Given the description of an element on the screen output the (x, y) to click on. 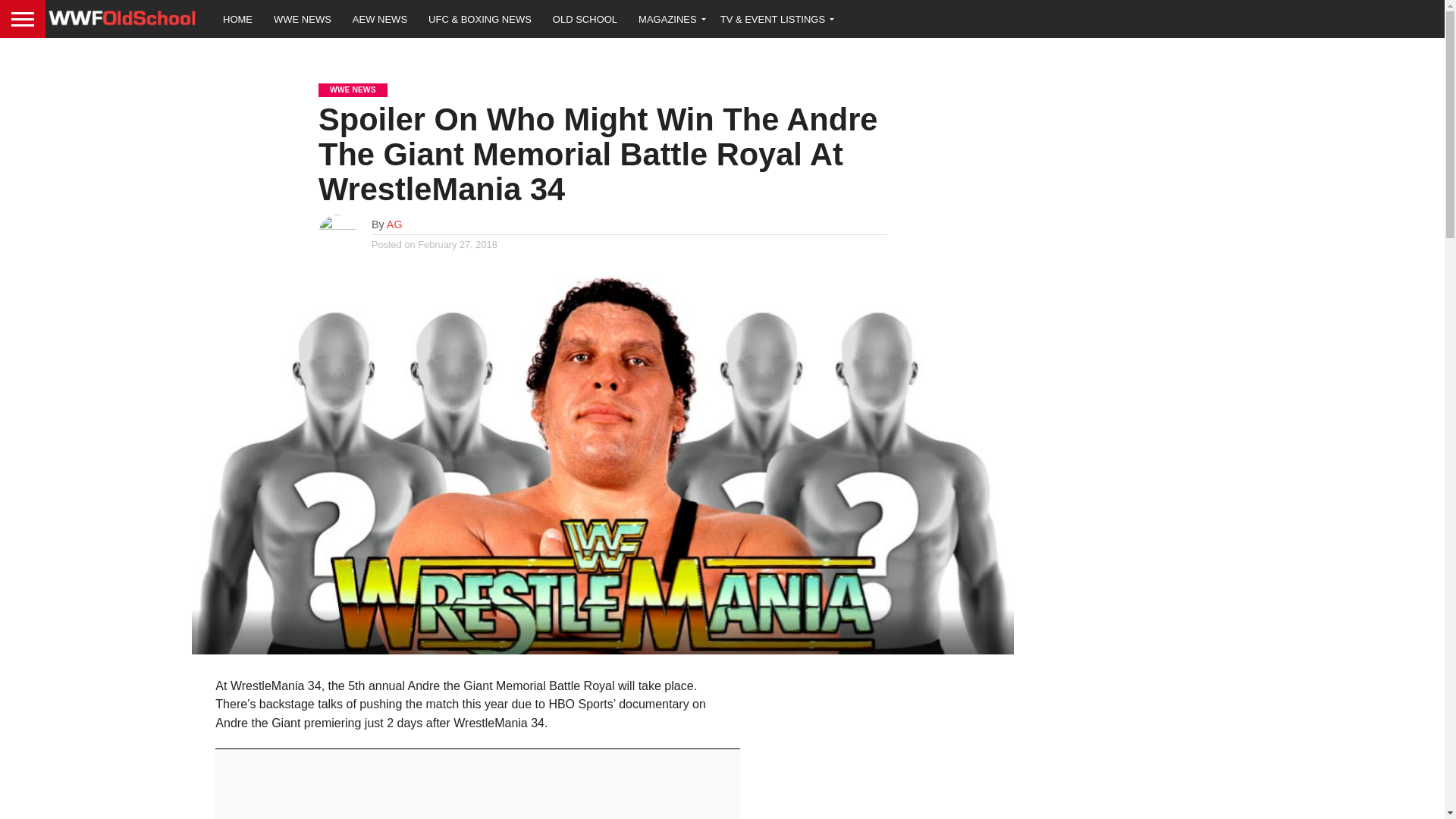
AEW NEWS (379, 18)
WWE NEWS (302, 18)
OLD SCHOOL (584, 18)
HOME (237, 18)
MAGAZINES (668, 18)
Posts by AG (395, 224)
